Given the description of an element on the screen output the (x, y) to click on. 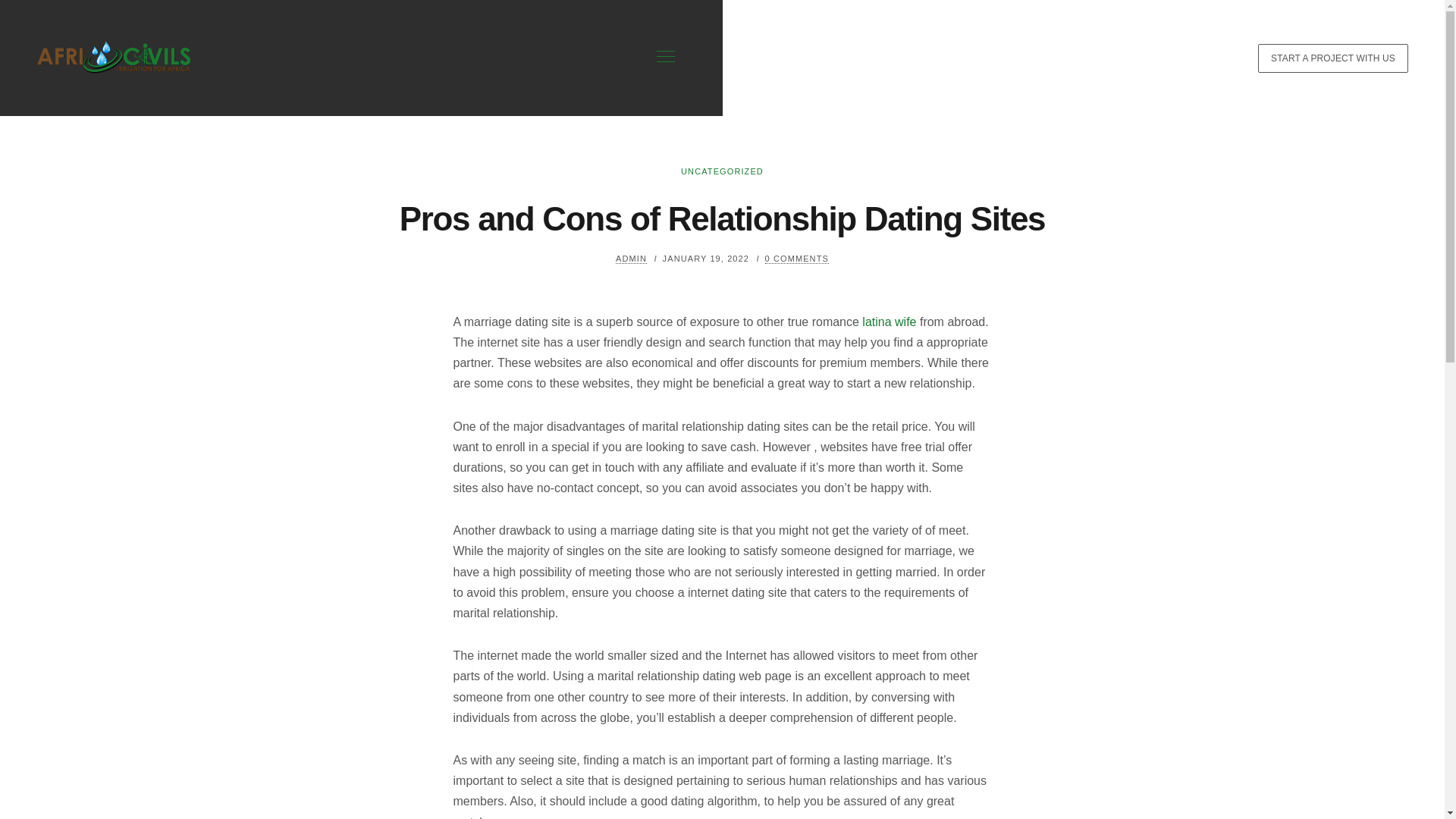
UNCATEGORIZED (721, 171)
ADMIN (630, 258)
latina wife (888, 321)
START A PROJECT WITH US (1332, 58)
0 COMMENTS (796, 258)
